Given the description of an element on the screen output the (x, y) to click on. 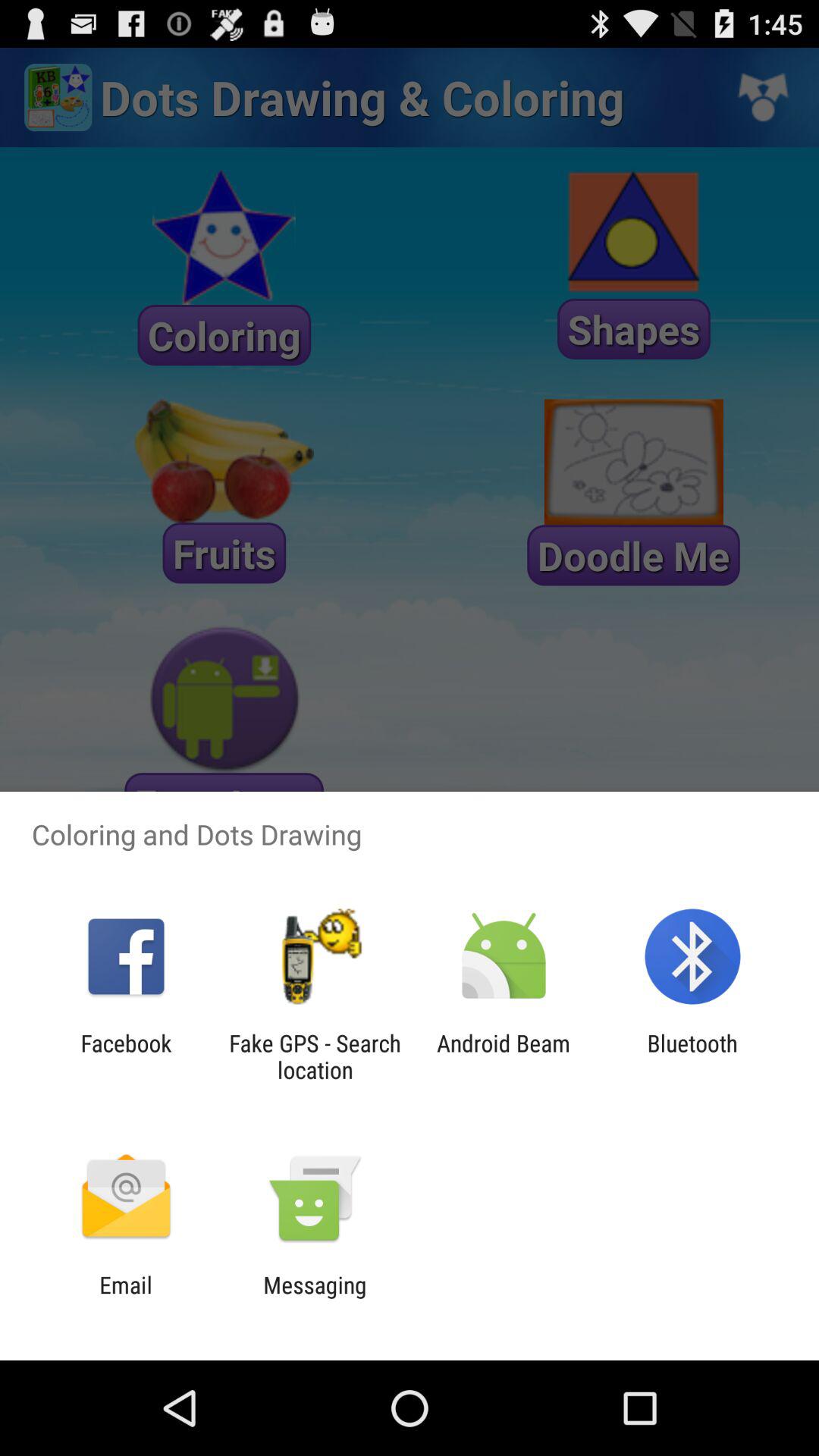
turn off the item next to the bluetooth icon (503, 1056)
